Given the description of an element on the screen output the (x, y) to click on. 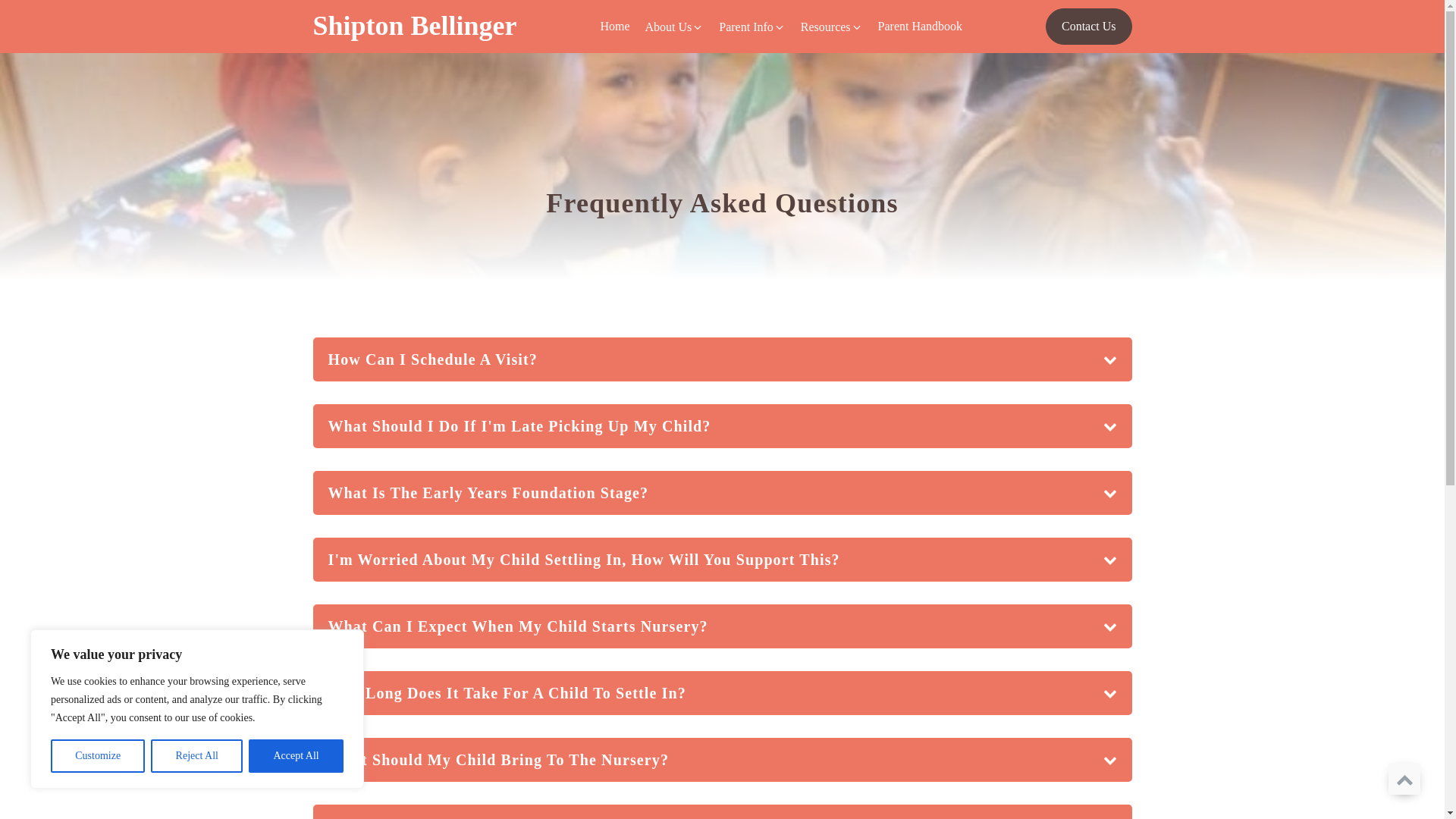
About Us (674, 26)
Parent Info (752, 26)
Home (614, 26)
Customize (97, 756)
How Can I Schedule A Visit? (722, 359)
Resources (831, 26)
Parent Handbook (920, 26)
Contact Us (1088, 26)
Reject All (197, 756)
Accept All (295, 756)
